Given the description of an element on the screen output the (x, y) to click on. 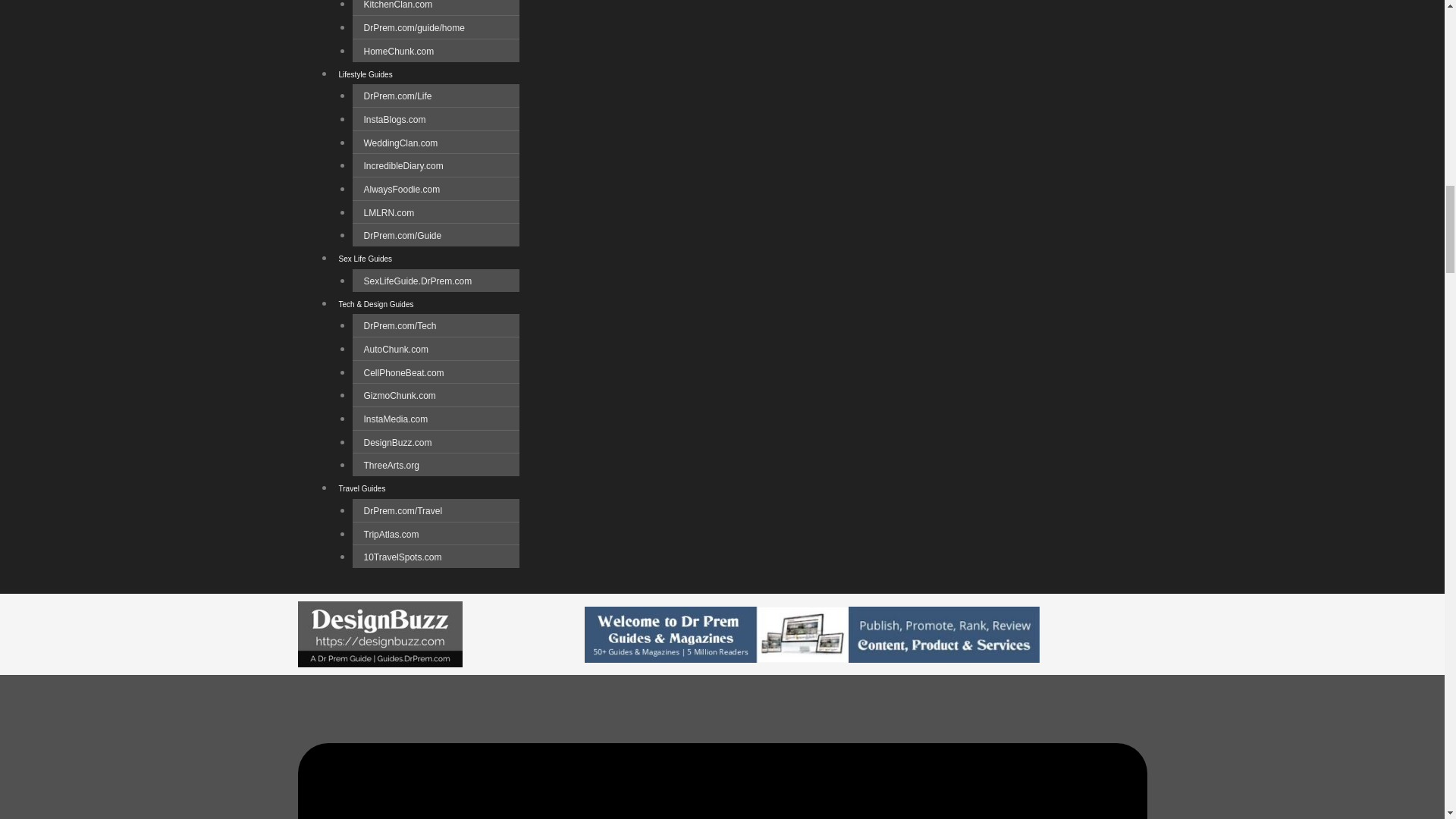
HomeChunk.com (398, 51)
InstaBlogs.com (394, 119)
KitchenClan.com (398, 10)
Lifestyle Guides (364, 74)
LMLRN.com (388, 213)
AlwaysFoodie.com (401, 189)
WeddingClan.com (400, 142)
IncredibleDiary.com (403, 165)
